Given the description of an element on the screen output the (x, y) to click on. 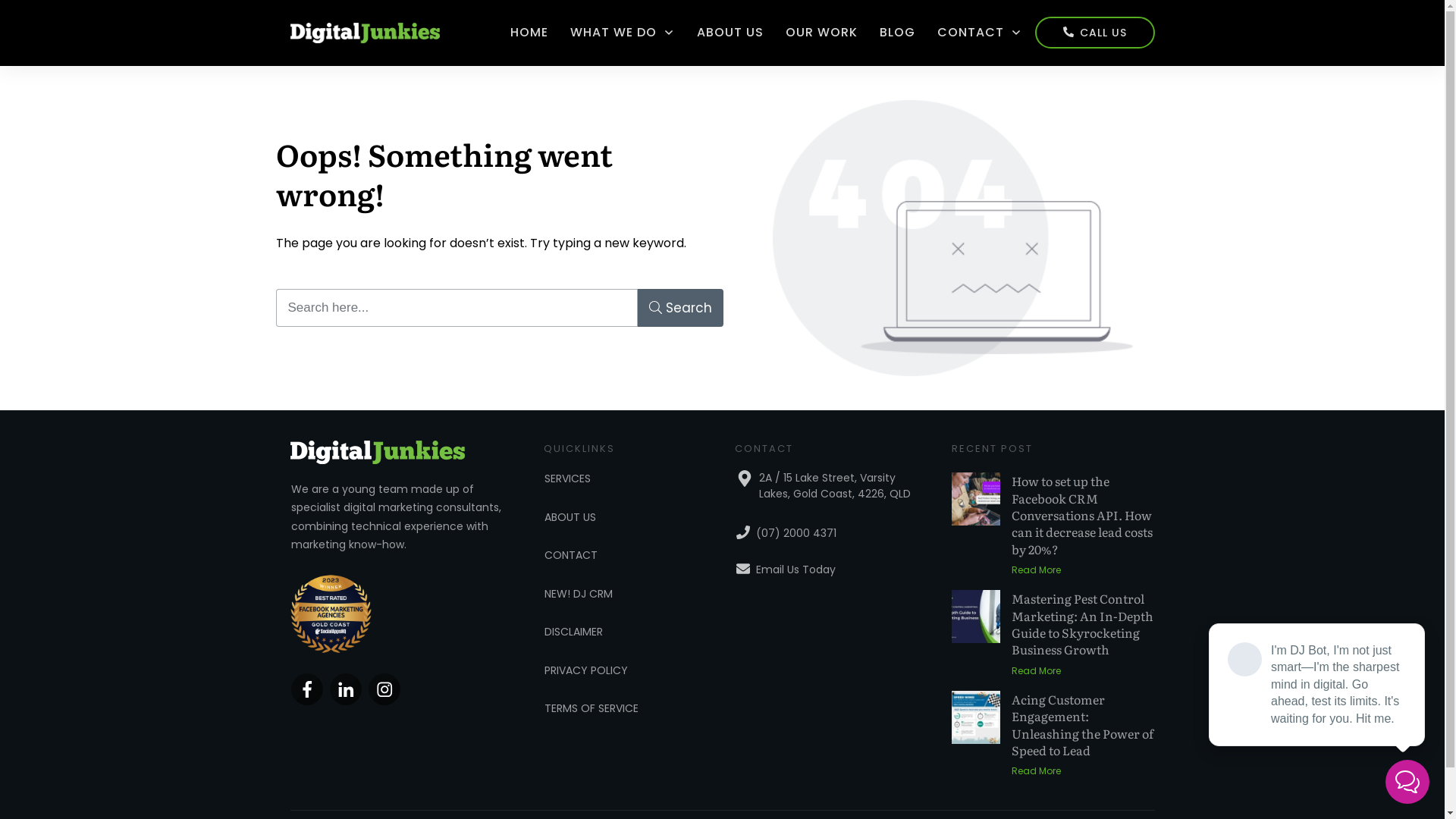
PRIVACY POLICY Element type: text (585, 669)
Read More Element type: text (1035, 770)
Read More Element type: text (1035, 670)
Read More Element type: text (1035, 569)
ABOUT US Element type: text (570, 516)
TERMS OF SERVICE Element type: text (591, 707)
Dj-new-logo-3-s Element type: hover (376, 452)
Email Us Today Element type: text (795, 569)
OUR WORK Element type: text (821, 32)
Search Element type: text (680, 307)
NEW! DJ CRM Element type: text (578, 593)
WHAT WE DO Element type: text (622, 32)
DISCLAIMER Element type: text (573, 631)
CALL US Element type: text (1094, 32)
CONTACT Element type: text (979, 32)
Best Facebook Marketing Agency Gold Coast Element type: hover (329, 613)
BLOG Element type: text (897, 32)
(07) 2000 4371 Element type: text (796, 532)
HOME Element type: text (528, 32)
Dj-new-logo-3-s Element type: hover (364, 32)
SERVICES Element type: text (567, 478)
CONTACT Element type: text (570, 554)
404 Element type: hover (952, 238)
ABOUT US Element type: text (729, 32)
